Given the description of an element on the screen output the (x, y) to click on. 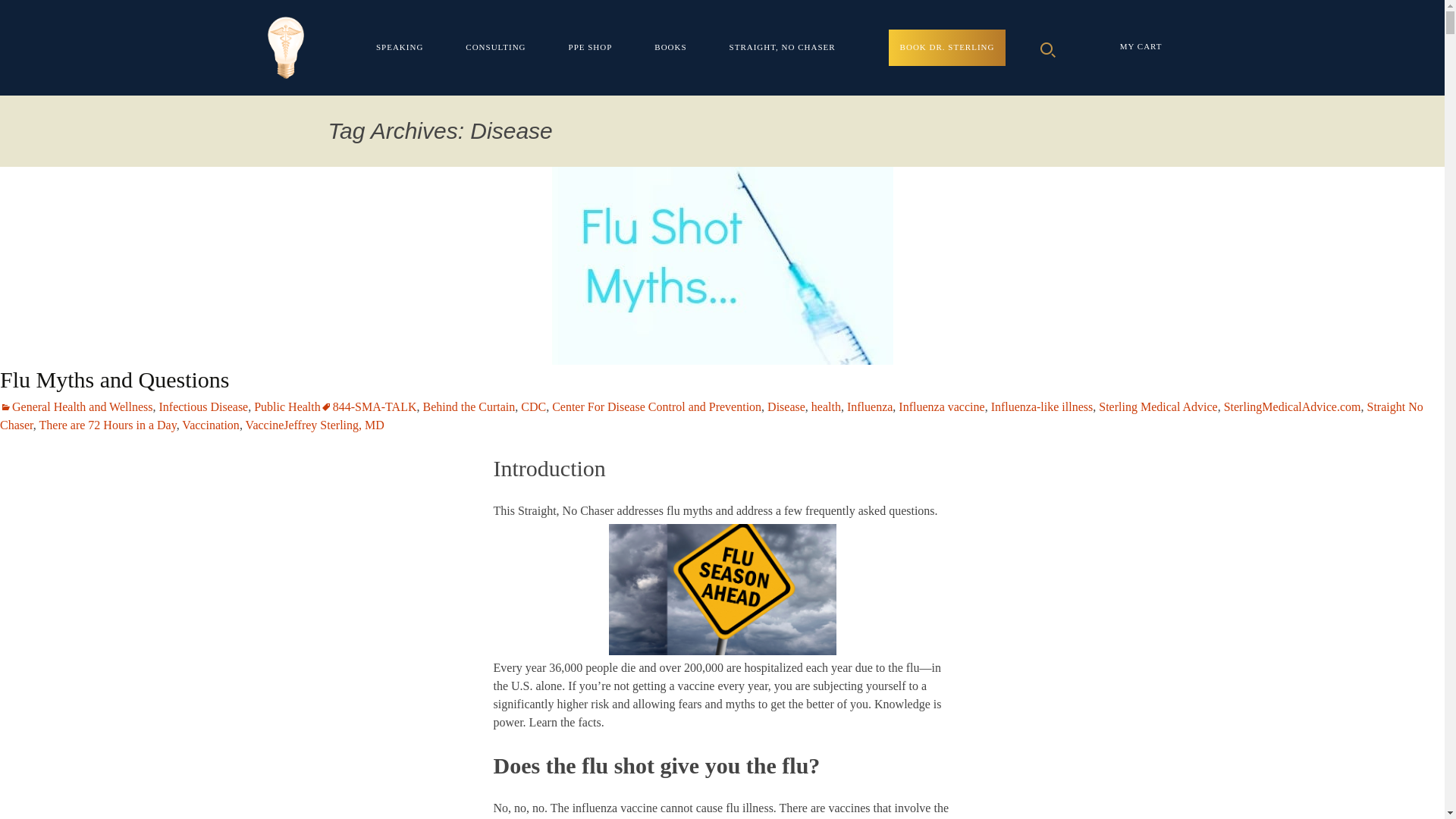
STRAIGHT, NO CHASER (782, 47)
SPEAKING (399, 47)
Influenza vaccine (941, 406)
SterlingMedicalAdvice.com (1292, 406)
Vaccination (211, 424)
PPE SHOP (590, 47)
Search (18, 15)
Disease (786, 406)
CDC (533, 406)
View all posts by Jeffrey Sterling, MD (333, 424)
